Given the description of an element on the screen output the (x, y) to click on. 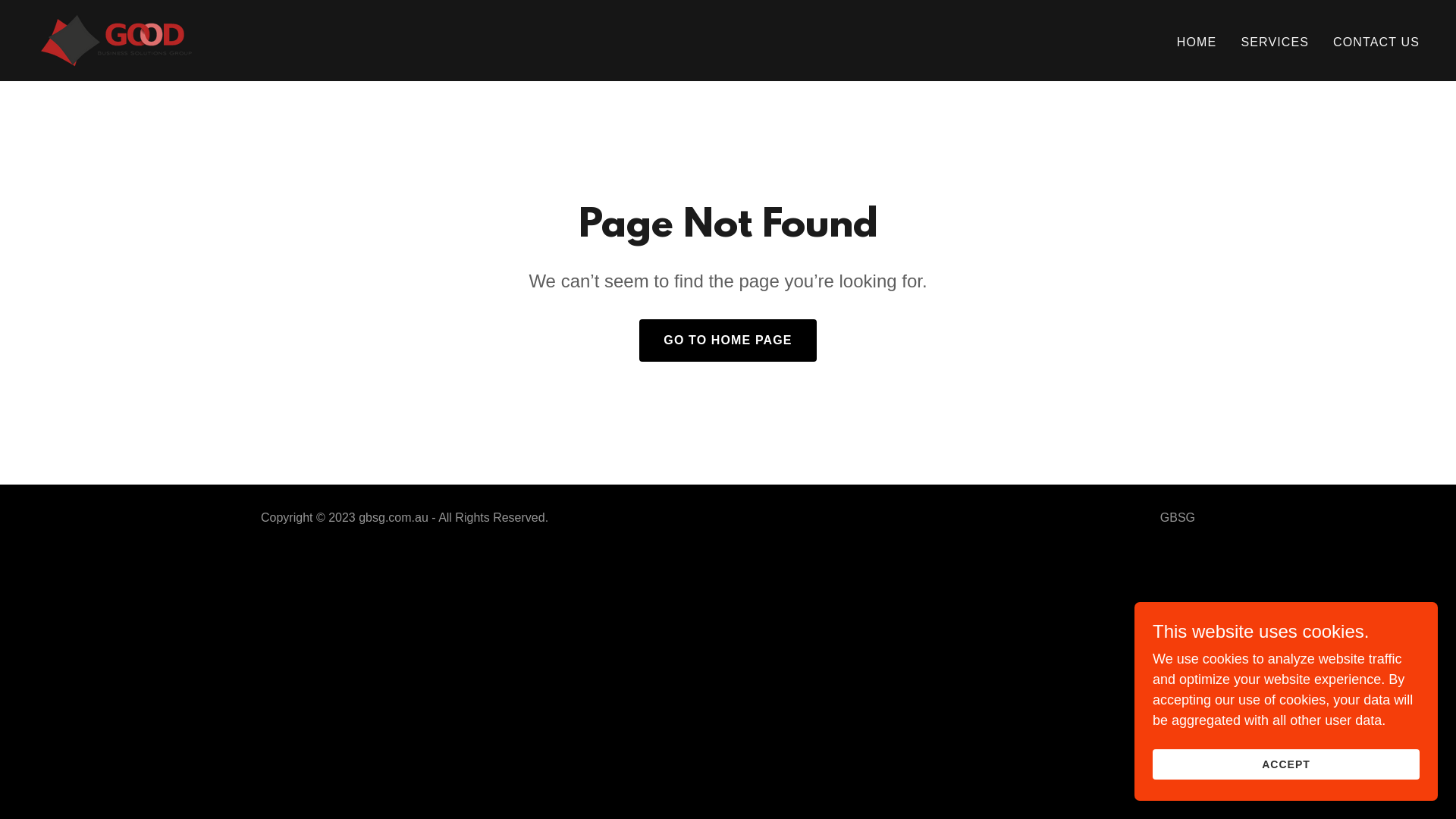
HOME Element type: text (1196, 42)
gbsg.com.au Element type: hover (115, 39)
CONTACT US Element type: text (1376, 42)
ACCEPT Element type: text (1285, 764)
SERVICES Element type: text (1274, 42)
GO TO HOME PAGE Element type: text (727, 340)
